Given the description of an element on the screen output the (x, y) to click on. 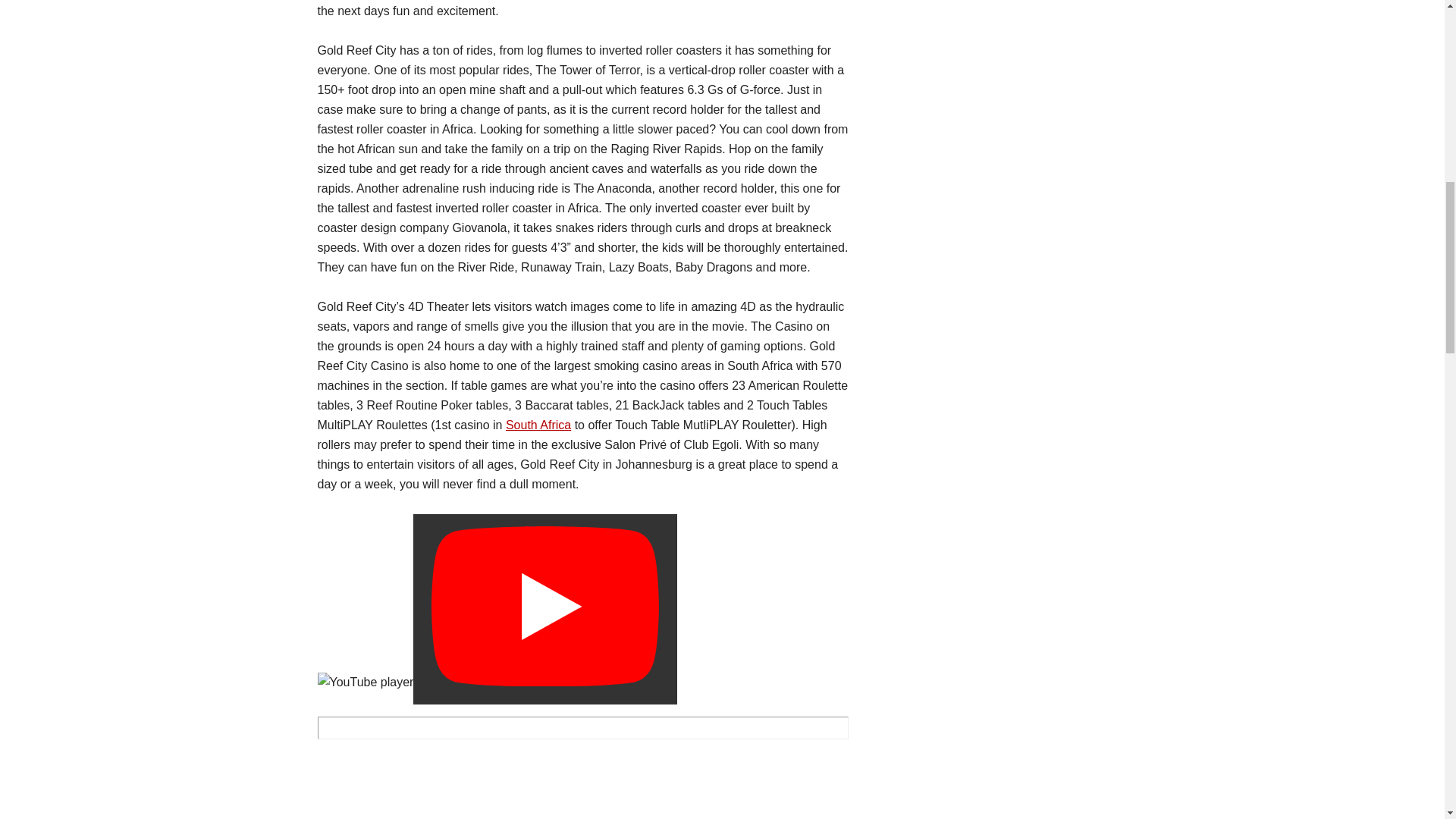
South Africa (537, 424)
